Given the description of an element on the screen output the (x, y) to click on. 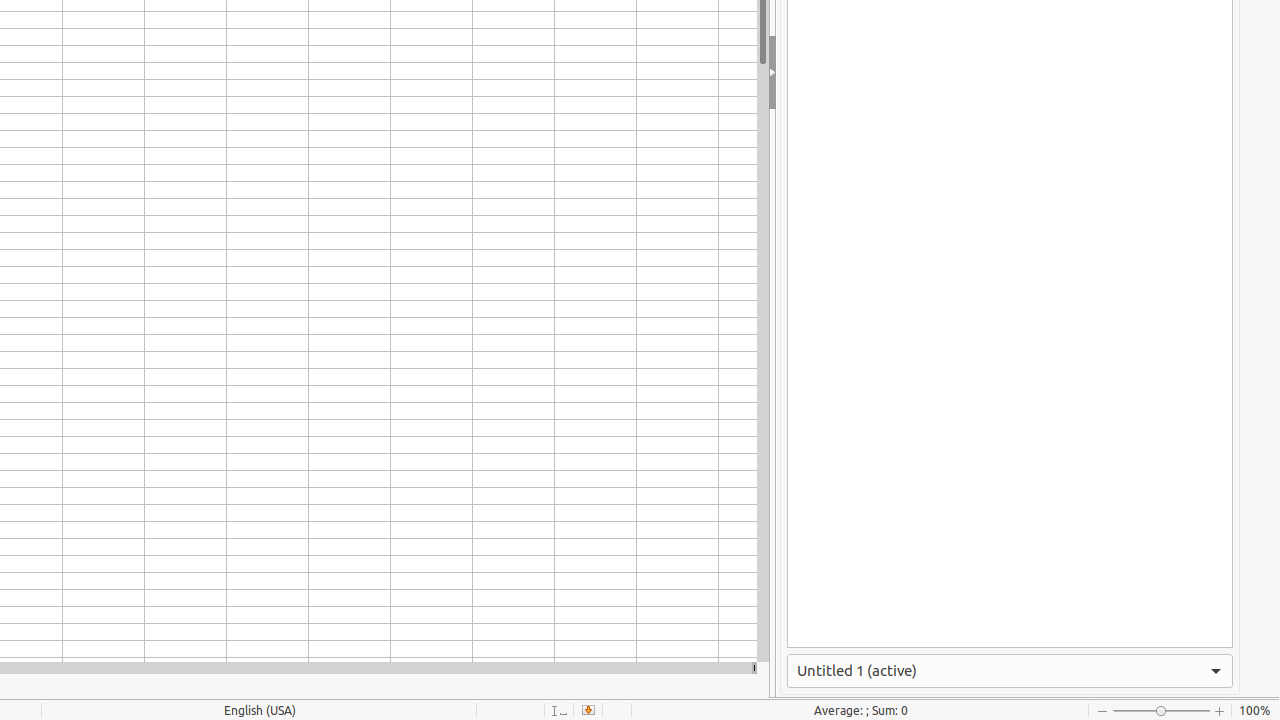
Active Window Element type: combo-box (1010, 671)
